Given the description of an element on the screen output the (x, y) to click on. 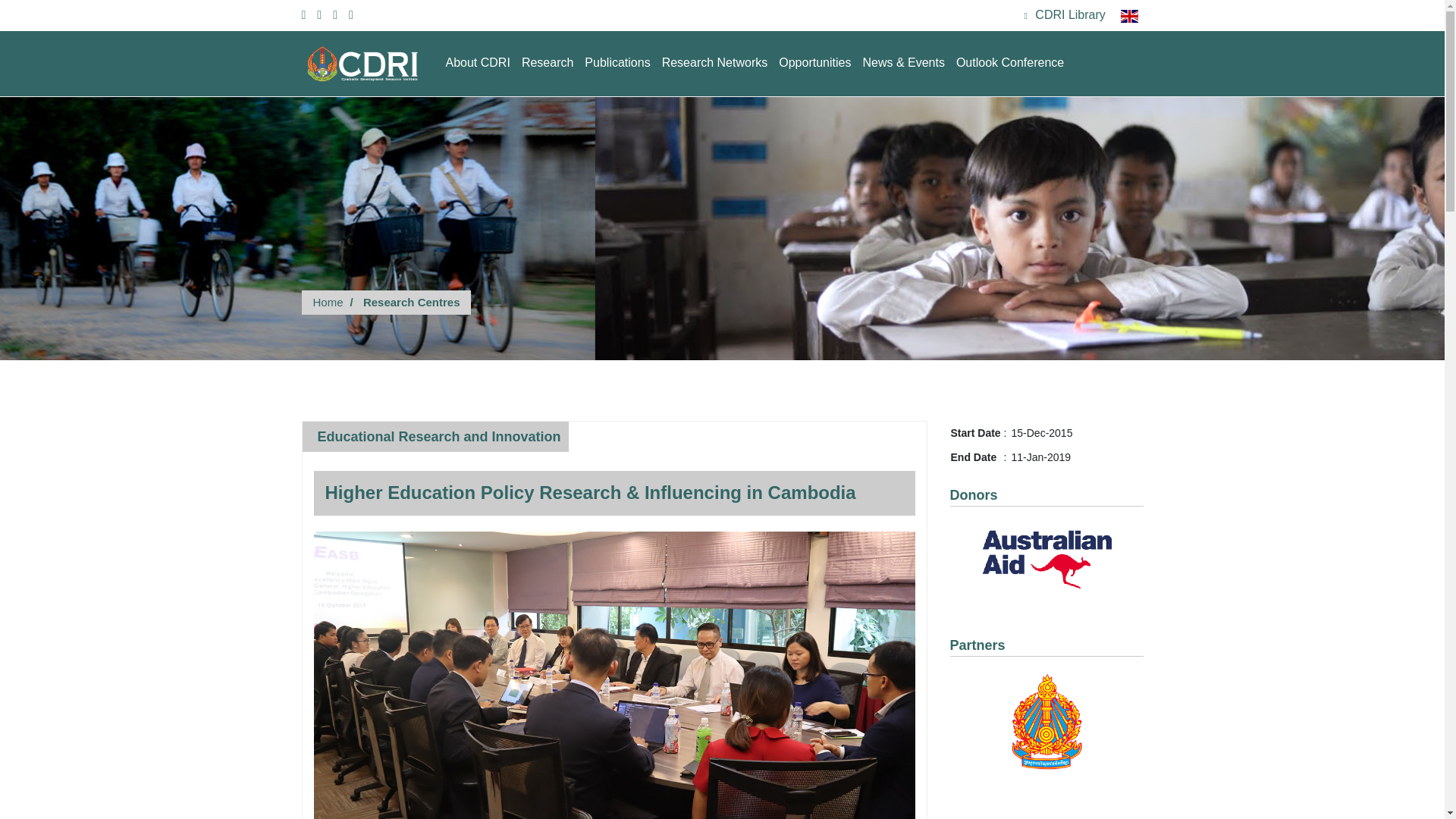
The Department of Foreign Affairs and Trade (1045, 559)
Research Networks (715, 62)
Ministry of Education, Youth and Sport (1045, 721)
Publications (617, 62)
Outlook Conference (1010, 62)
CDRI Library (1064, 15)
About CDRI (478, 62)
Research (547, 62)
Opportunities (814, 62)
